Given the description of an element on the screen output the (x, y) to click on. 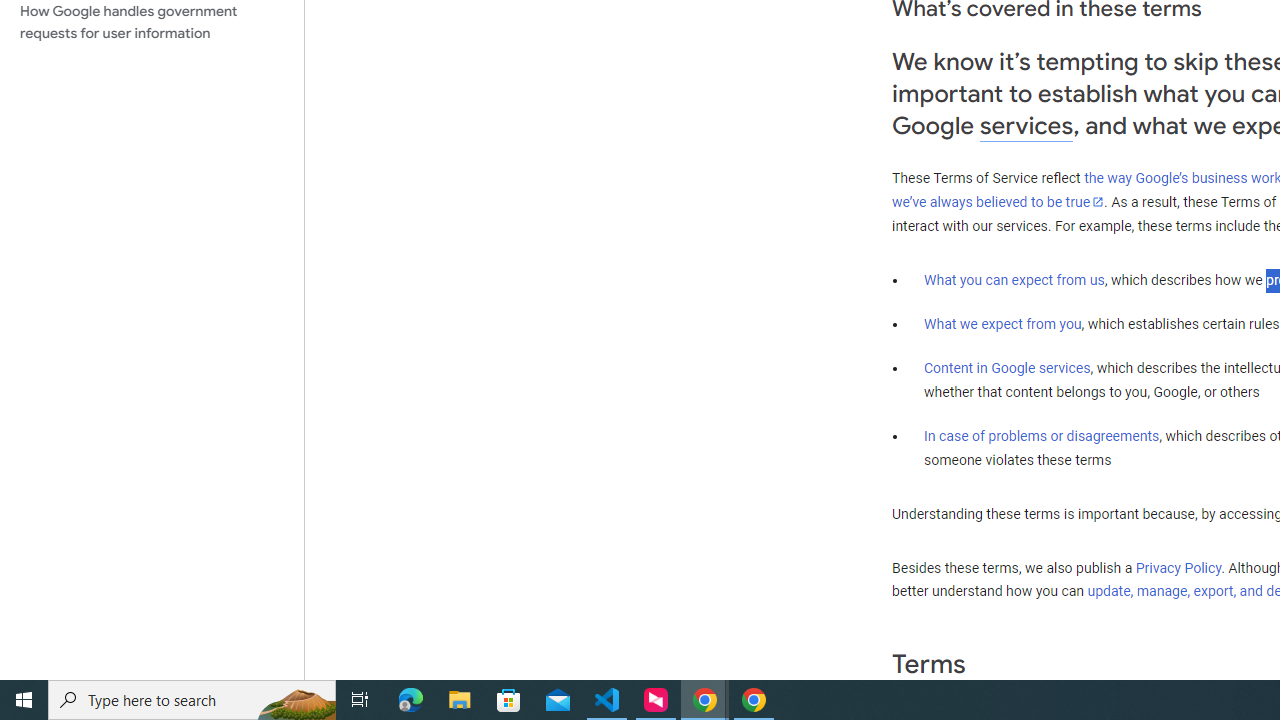
Privacy Policy (1178, 567)
In case of problems or disagreements (1041, 435)
services (1026, 125)
Content in Google services (1007, 368)
What we expect from you (1002, 323)
What you can expect from us (1014, 279)
